Given the description of an element on the screen output the (x, y) to click on. 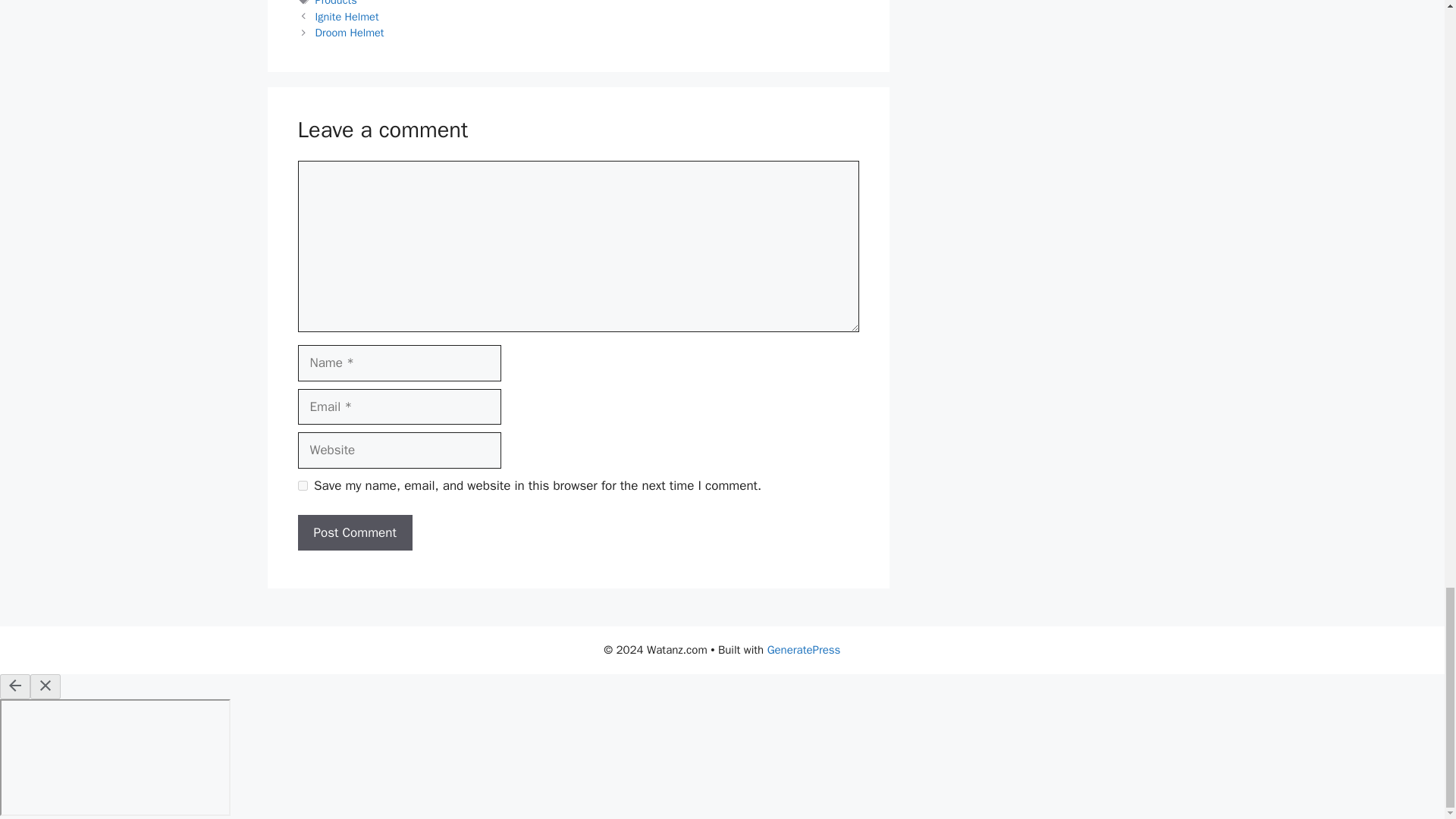
Products (335, 3)
Ignite Helmet (346, 16)
GeneratePress (804, 649)
Post Comment (354, 533)
yes (302, 485)
Droom Helmet (349, 32)
Post Comment (354, 533)
